Given the description of an element on the screen output the (x, y) to click on. 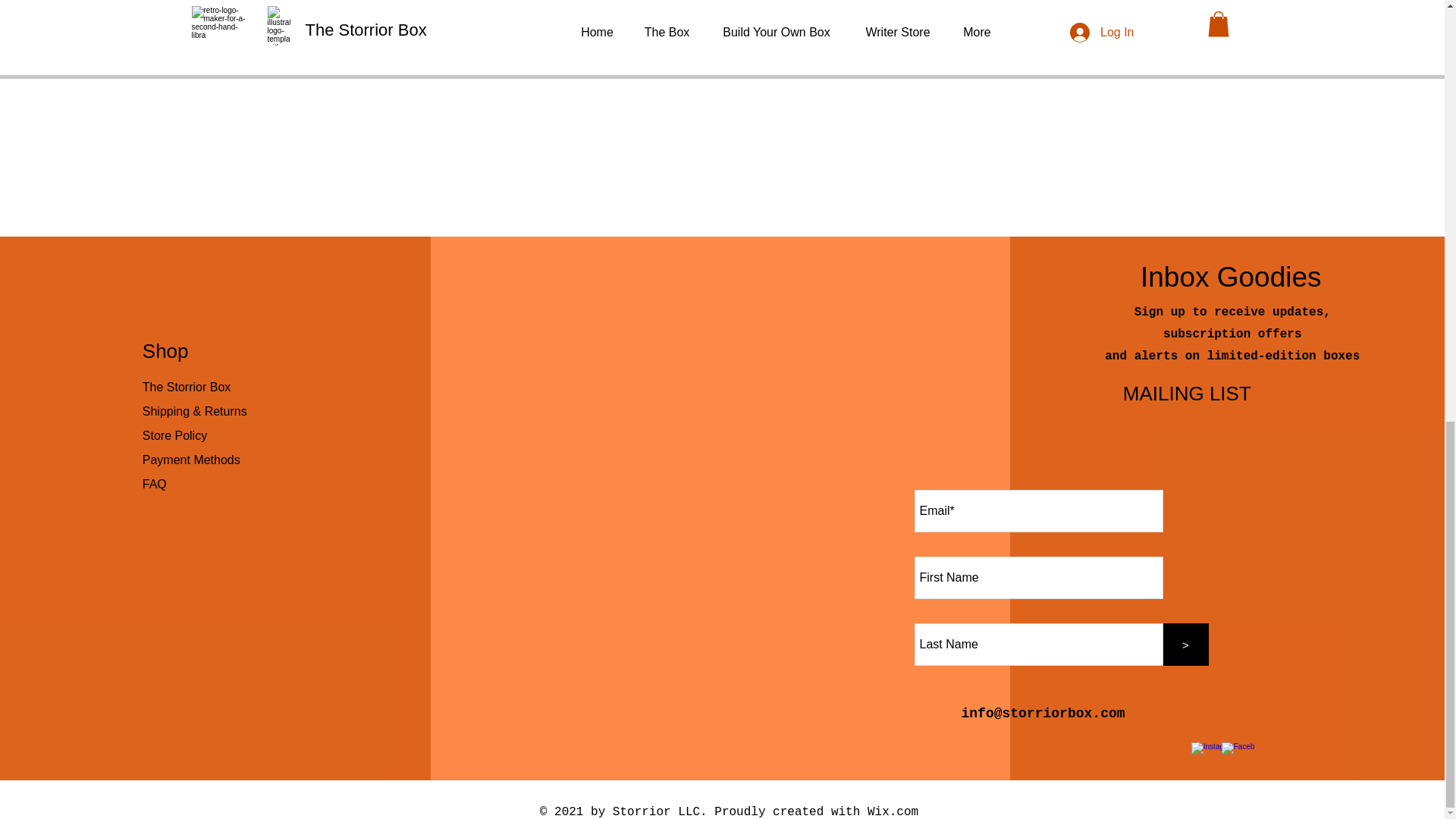
The Storrior Box (186, 386)
Store Policy (174, 435)
FAQ (154, 483)
Payment Methods  (192, 459)
